Given the description of an element on the screen output the (x, y) to click on. 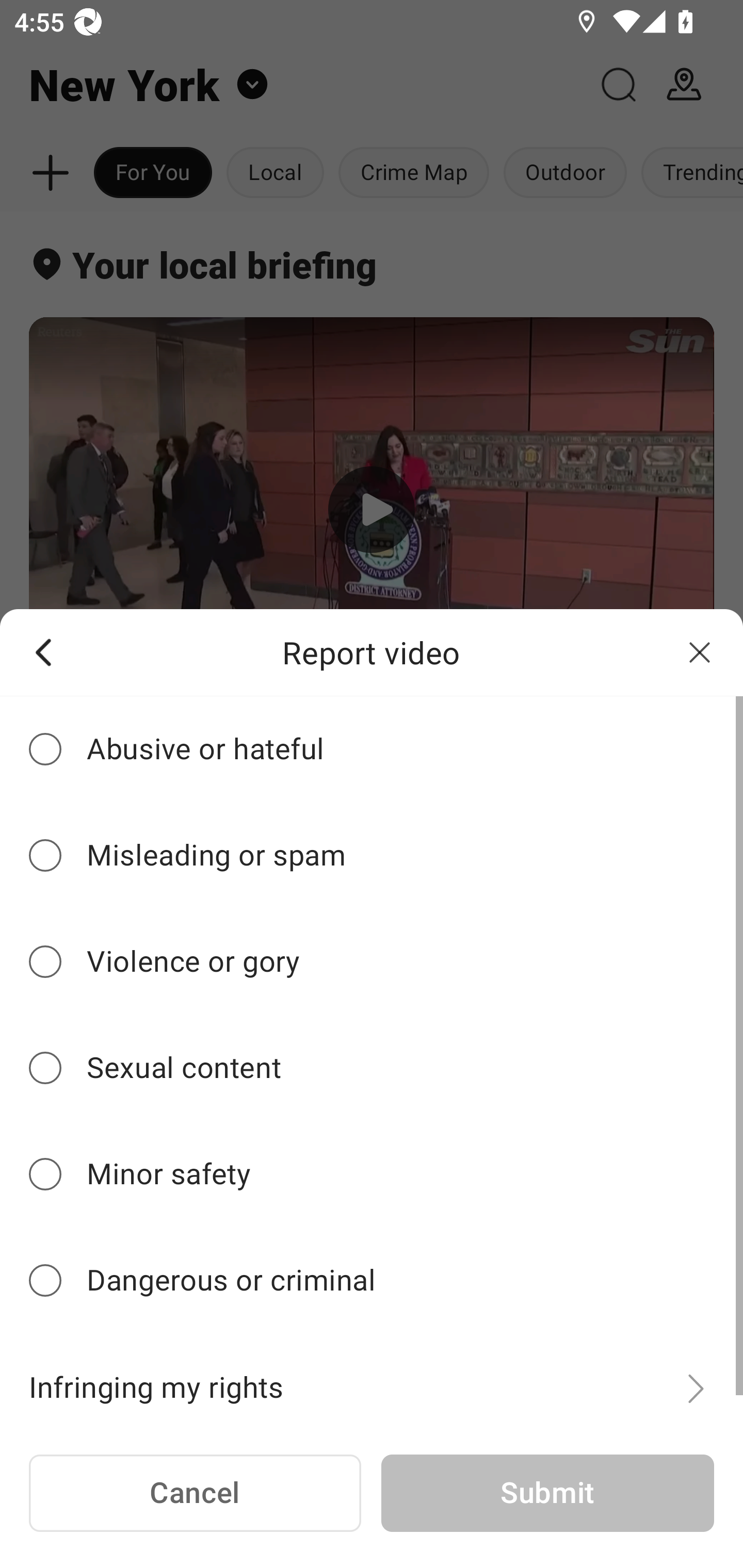
Abusive or hateful (371, 749)
Misleading or spam (371, 855)
Violence or gory (371, 961)
Sexual content (371, 1067)
Minor safety (371, 1174)
Dangerous or criminal (371, 1280)
Infringing my rights (371, 1376)
Cancel (194, 1493)
Submit (547, 1493)
